Given the description of an element on the screen output the (x, y) to click on. 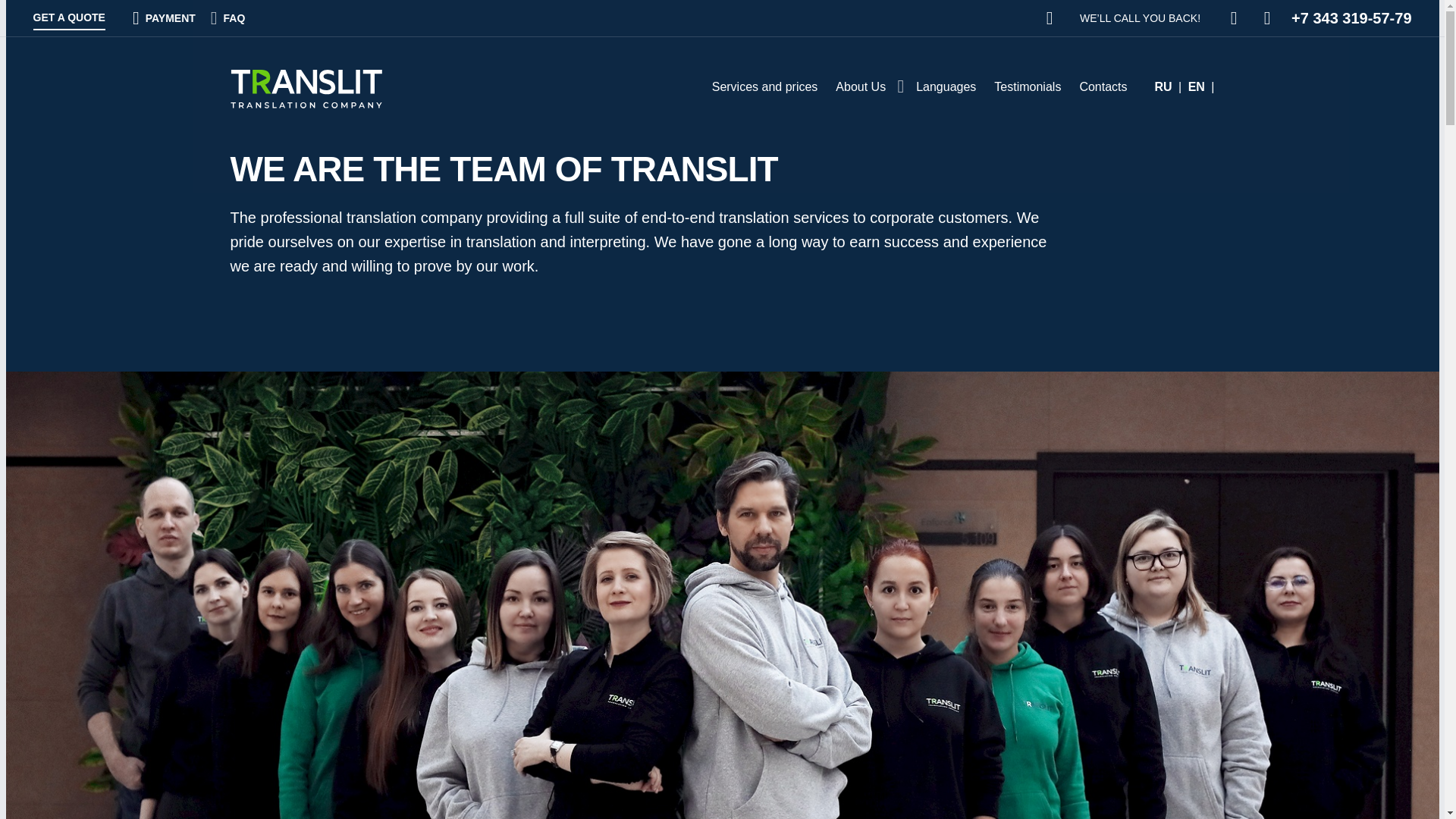
Testimonials (1027, 87)
FAQ (228, 18)
GET A QUOTE (68, 18)
Contacts (1102, 87)
Languages (946, 87)
Services and prices (765, 87)
RU (1165, 86)
About Us (861, 87)
PAYMENT (163, 18)
